Given the description of an element on the screen output the (x, y) to click on. 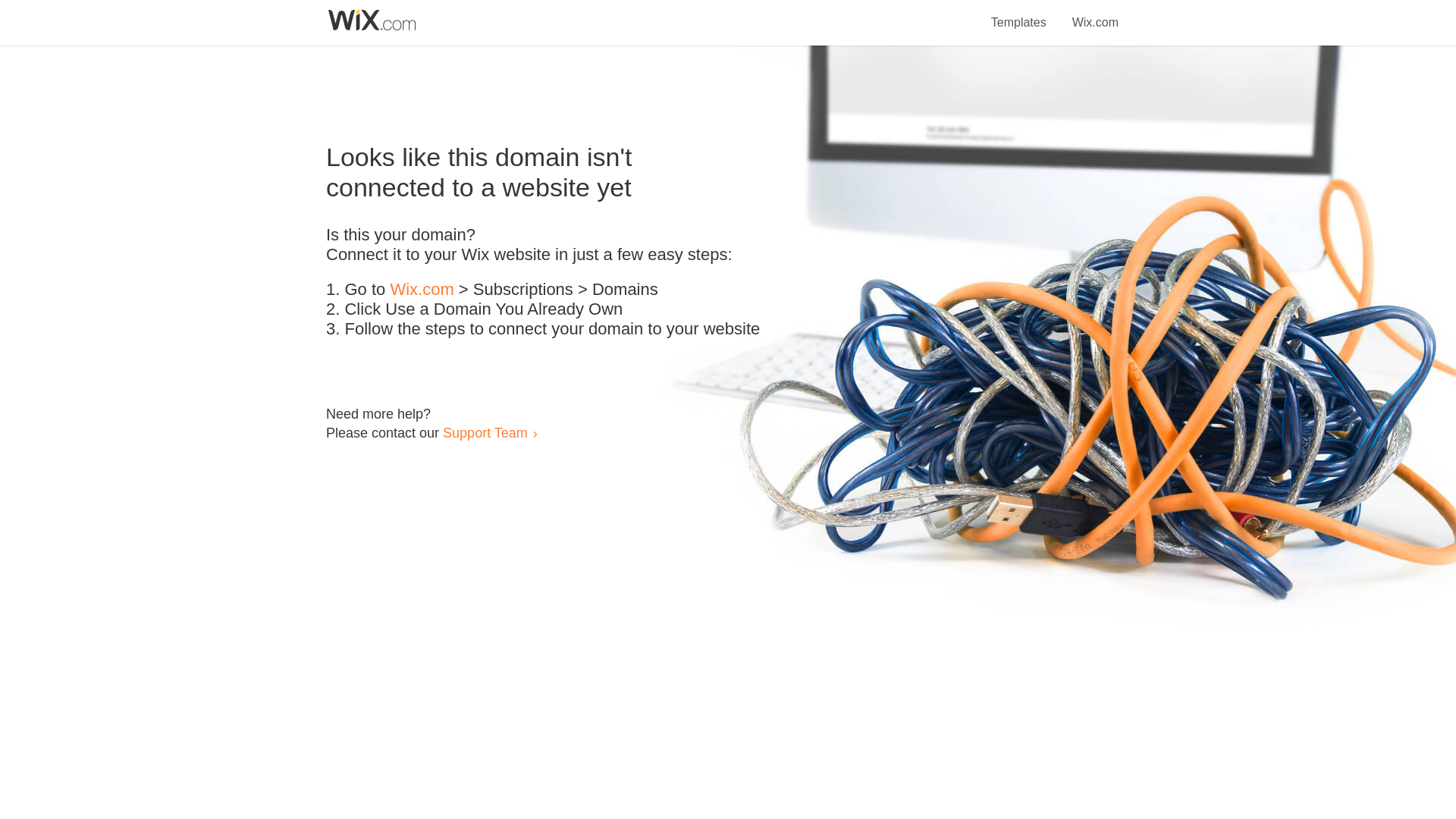
Wix.com (421, 289)
Wix.com (1095, 14)
Templates (1018, 14)
Support Team (484, 432)
